Given the description of an element on the screen output the (x, y) to click on. 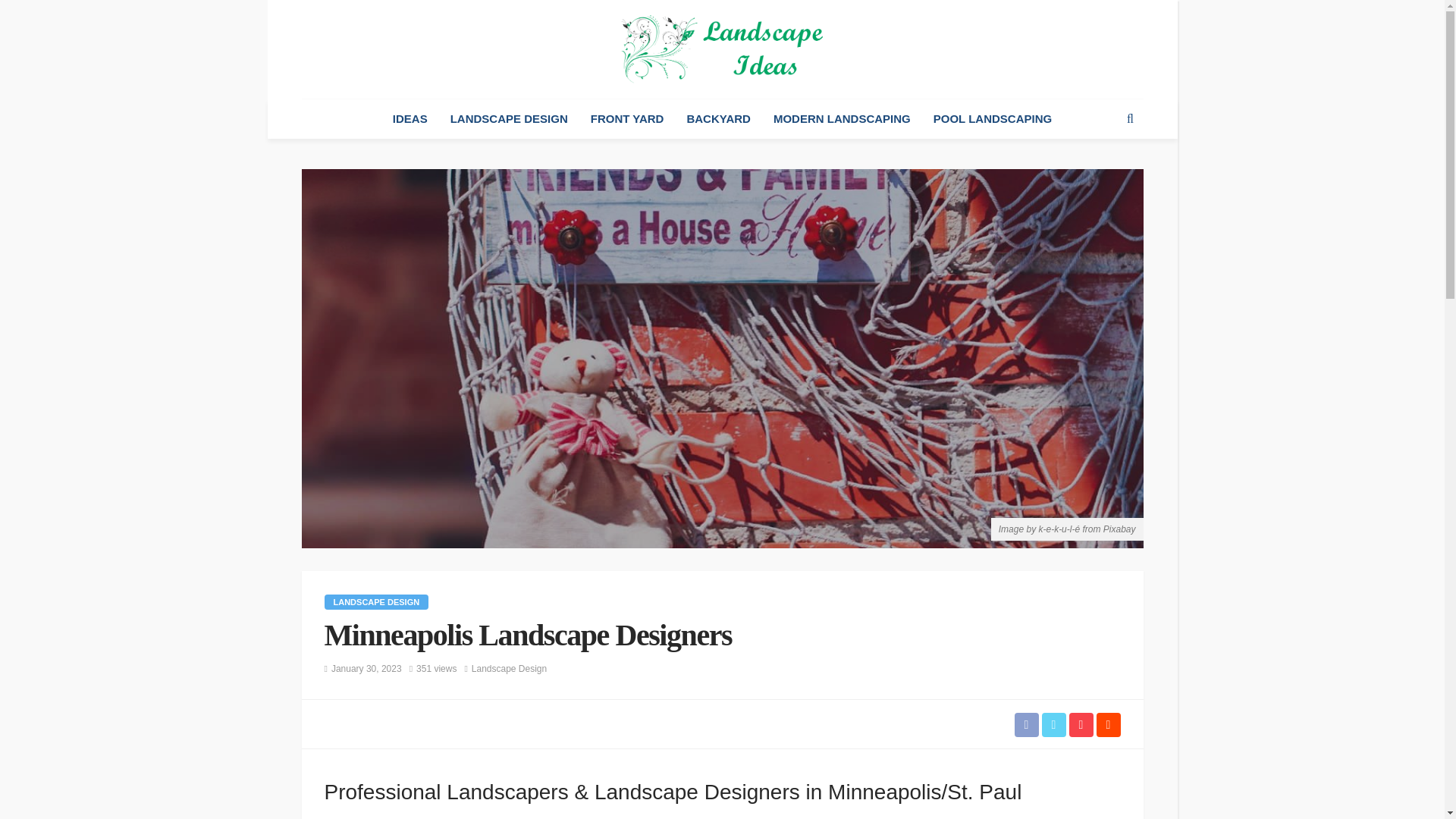
Landscape Ideas (721, 49)
Landscape Design (509, 668)
Landscape Design (376, 601)
Minneapolis Landscape Designers (436, 668)
